Given the description of an element on the screen output the (x, y) to click on. 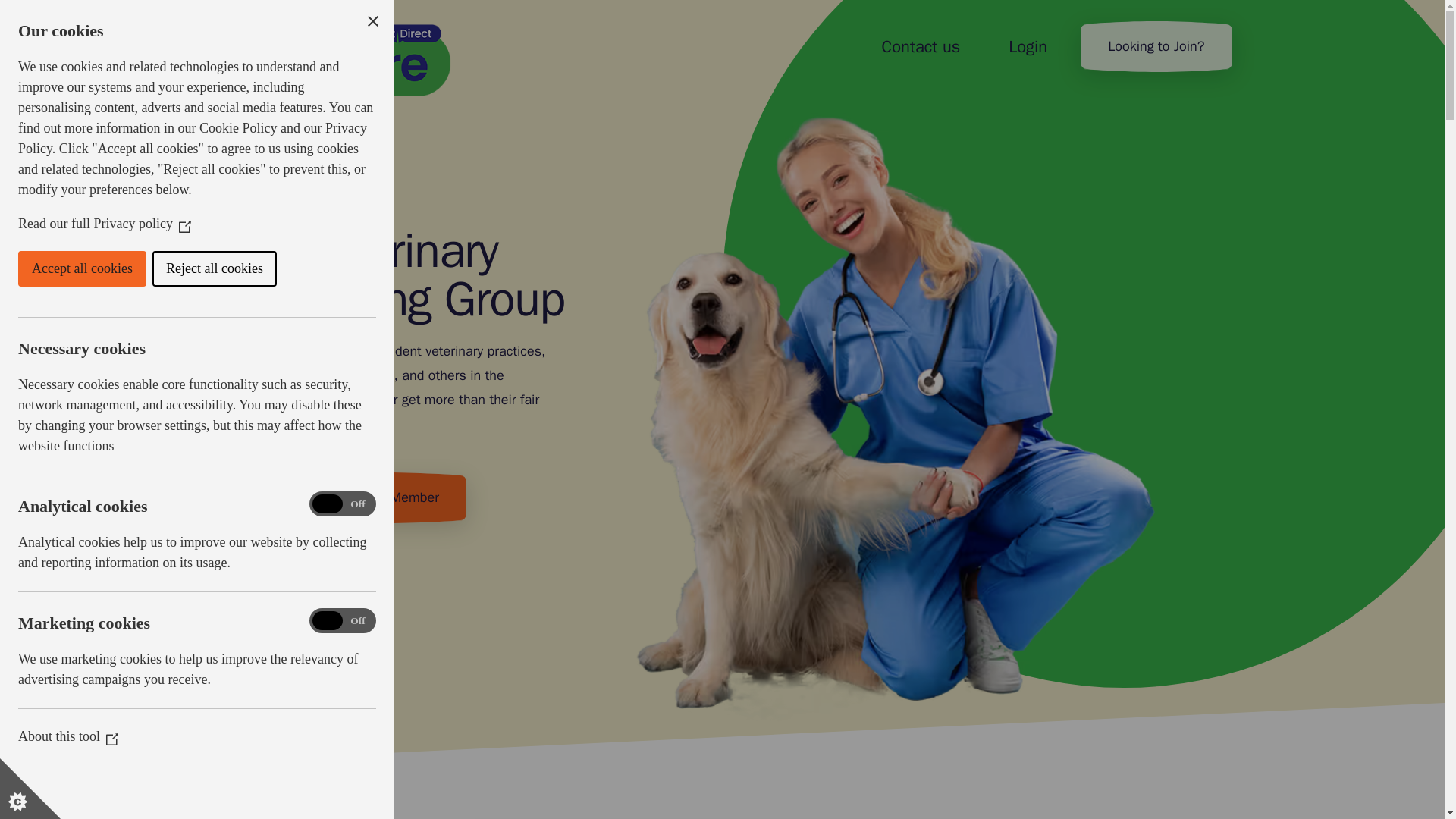
Looking to Join? (1155, 46)
Reject all cookies (54, 268)
Contact us (921, 46)
Become a Member (381, 497)
Login (1027, 46)
